Given the description of an element on the screen output the (x, y) to click on. 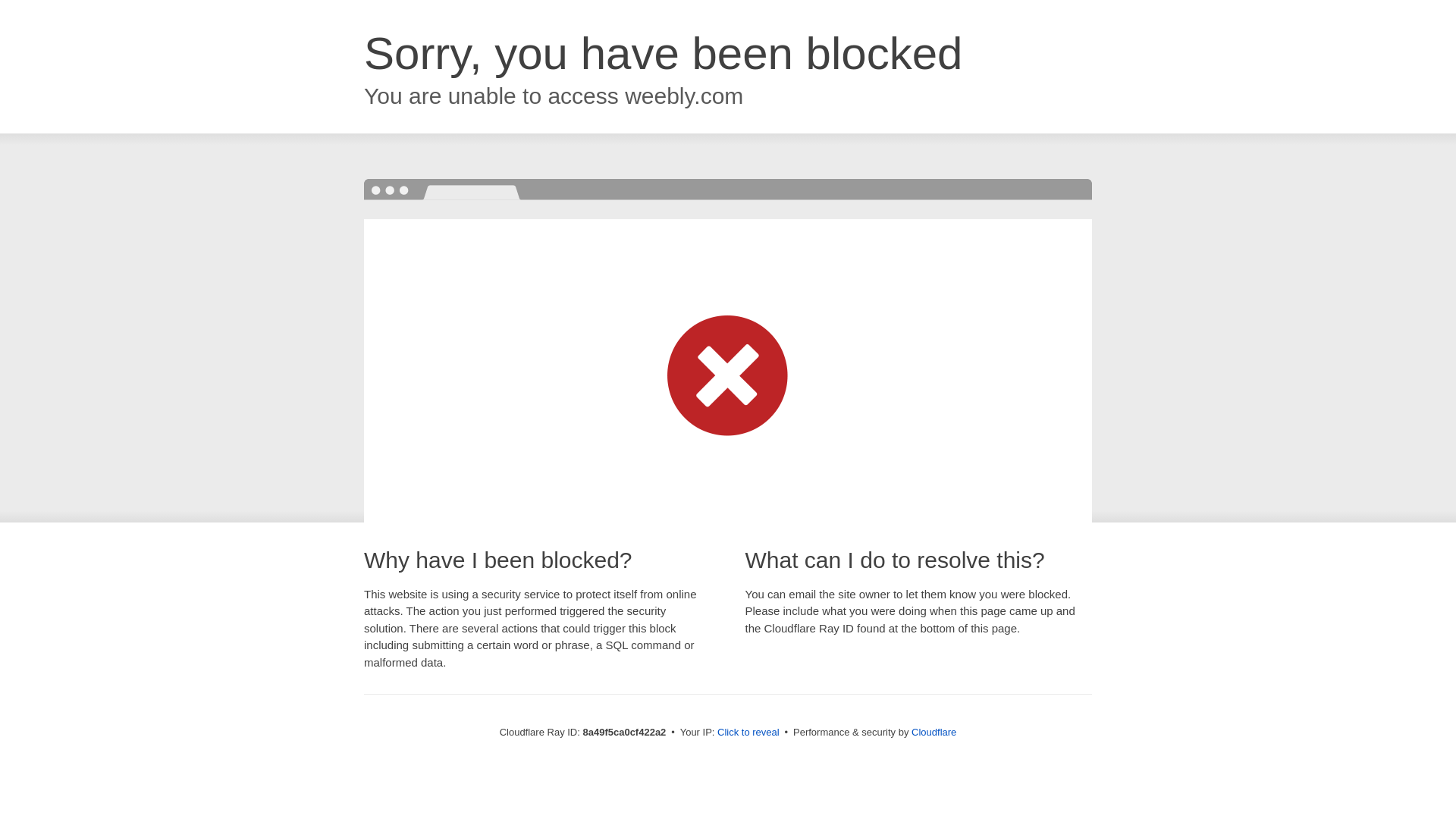
Cloudflare (933, 731)
Click to reveal (747, 732)
